Given the description of an element on the screen output the (x, y) to click on. 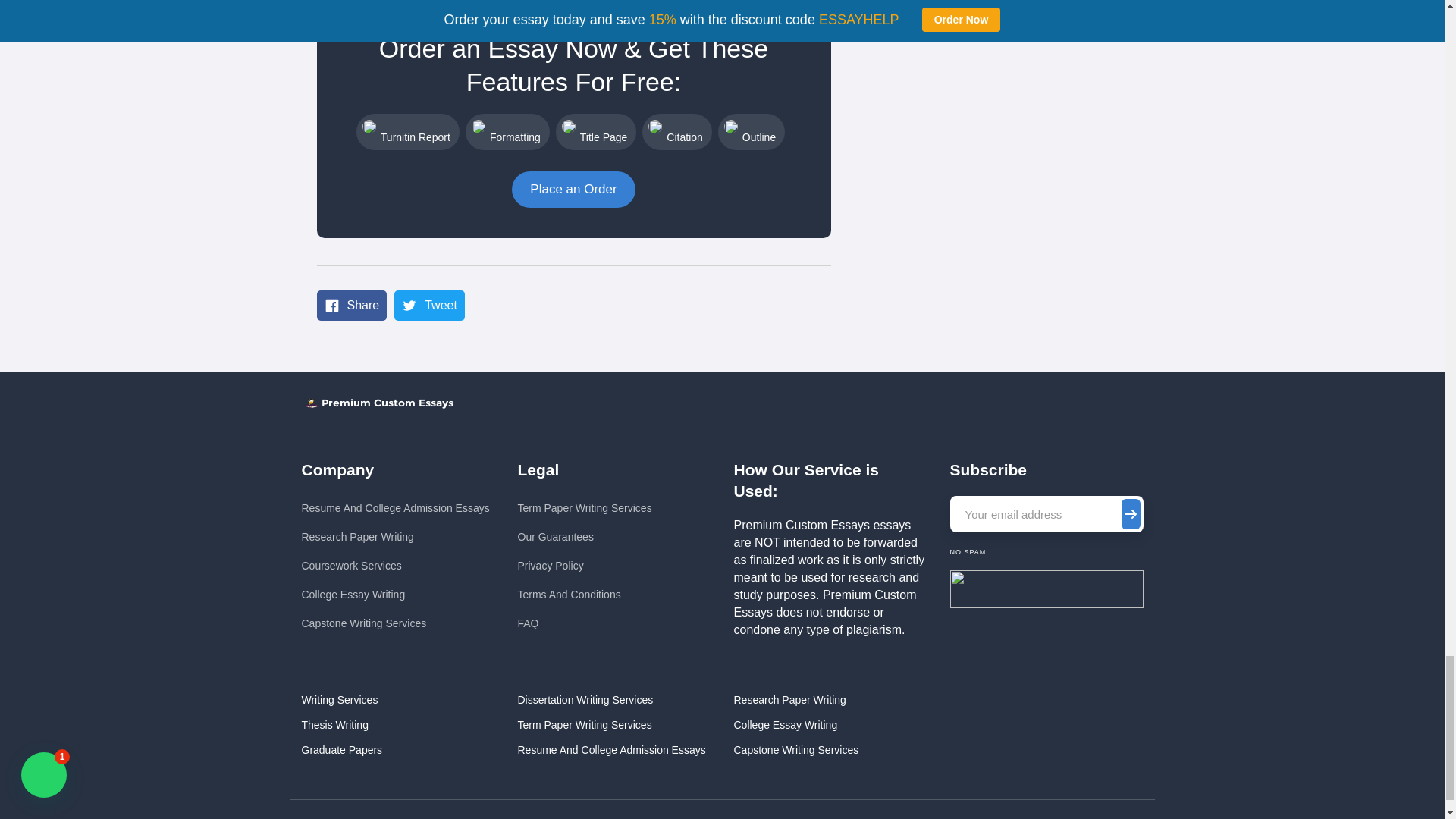
Capstone Writing Services (395, 623)
Research Paper Writing (395, 536)
Term Paper Writing Services (583, 508)
Our Guarantees (583, 536)
College Essay Writing (395, 594)
Place an Order (573, 189)
Share (352, 305)
Coursework Services (395, 565)
Tweet (429, 305)
Resume And College Admission Essays (395, 508)
